Given the description of an element on the screen output the (x, y) to click on. 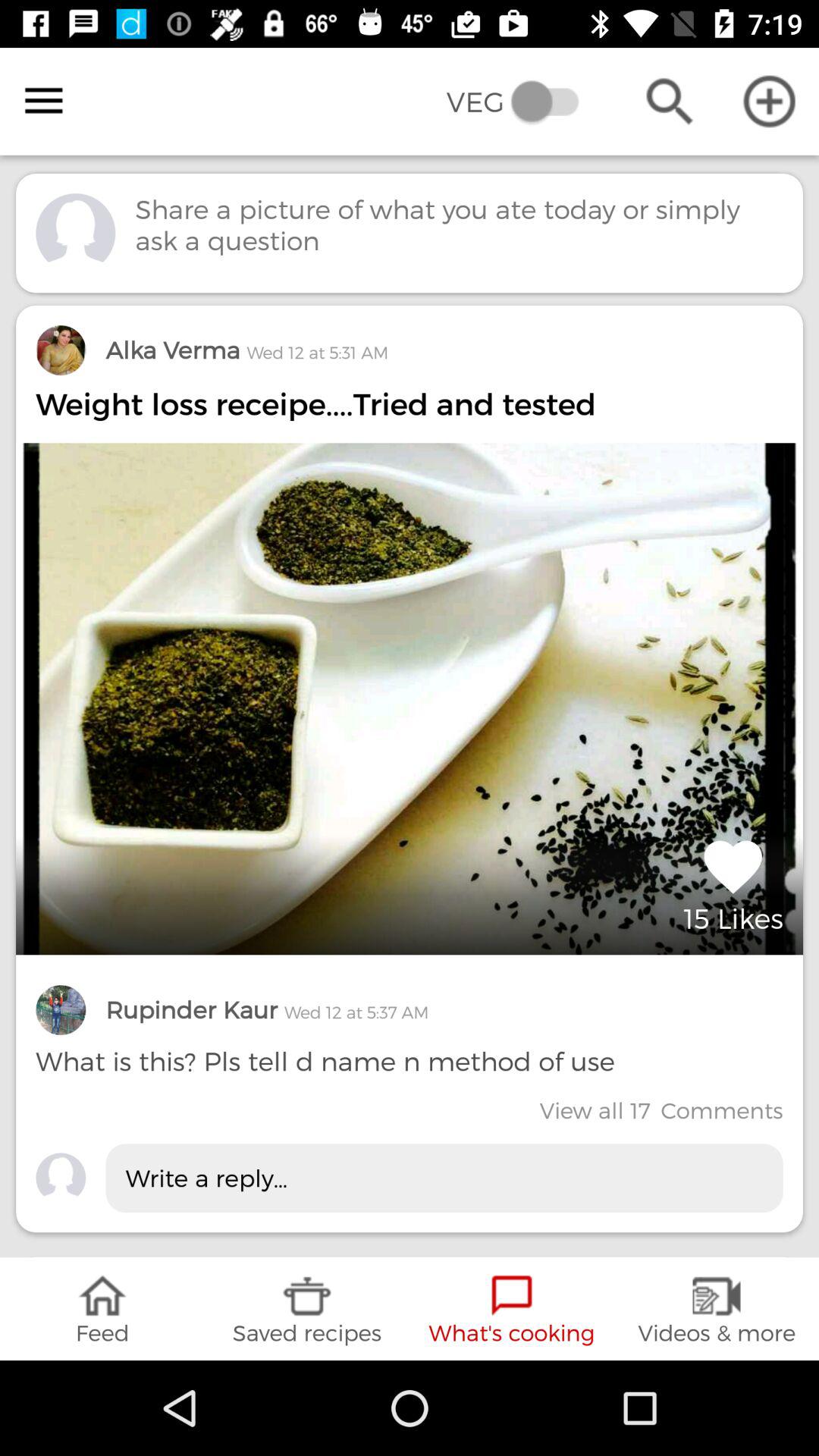
click the veg (522, 101)
